Given the description of an element on the screen output the (x, y) to click on. 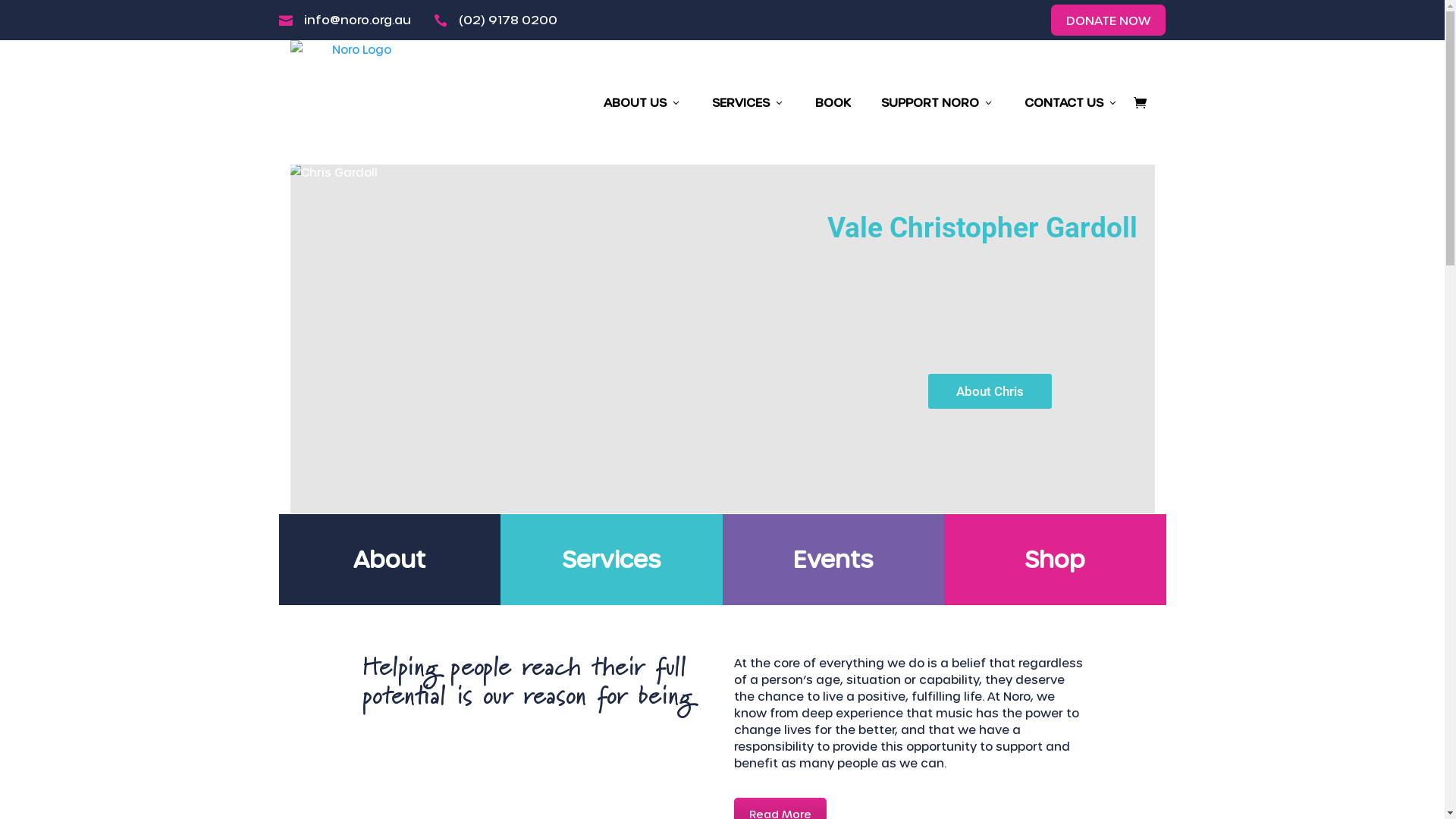
Services Element type: text (610, 558)
Shop Element type: text (1054, 558)
BOOK Element type: text (832, 102)
About Chris Element type: text (989, 390)
SERVICES Element type: text (747, 102)
info@noro.org.au Element type: text (356, 19)
SUPPORT NORO Element type: text (937, 102)
CONTACT US Element type: text (1070, 102)
(02) 9178 0200 Element type: text (507, 19)
DONATE NOW Element type: text (1108, 19)
Events Element type: text (832, 558)
About Element type: text (389, 558)
ABOUT US Element type: text (642, 102)
